Given the description of an element on the screen output the (x, y) to click on. 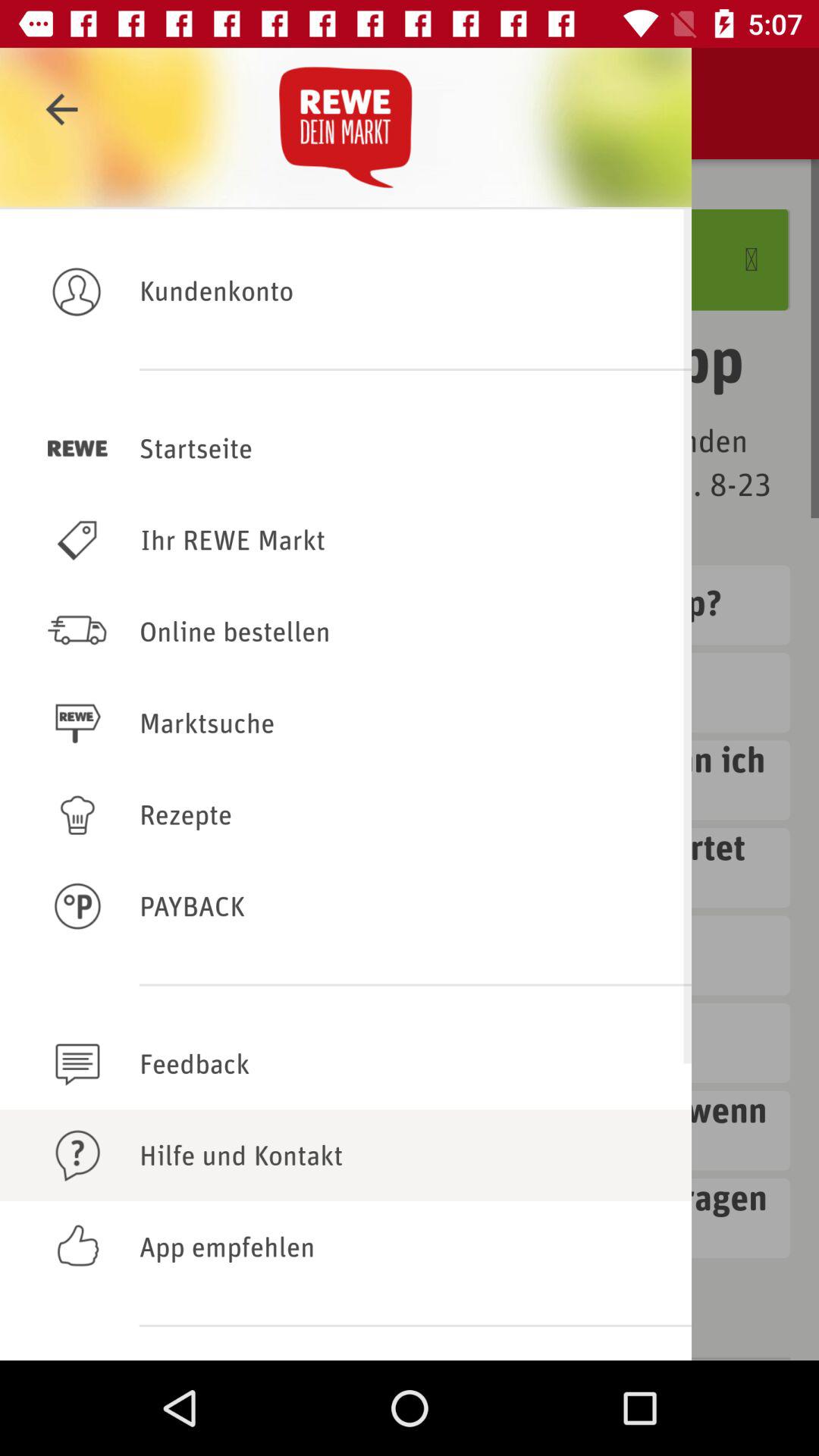
click on the icon beside kundenkonto (77, 290)
click on profile icon (77, 290)
